Given the description of an element on the screen output the (x, y) to click on. 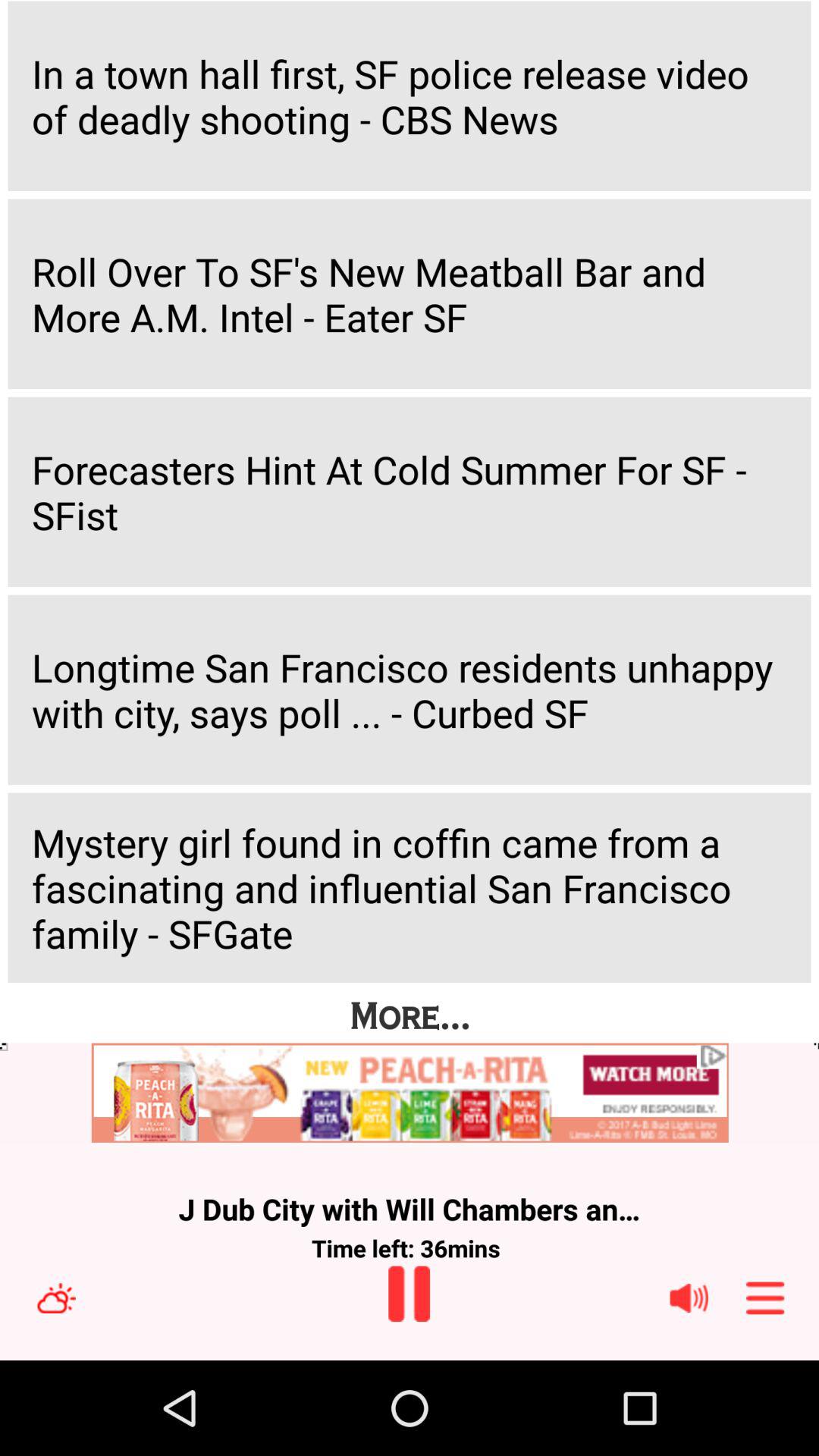
stop song (408, 1293)
